Given the description of an element on the screen output the (x, y) to click on. 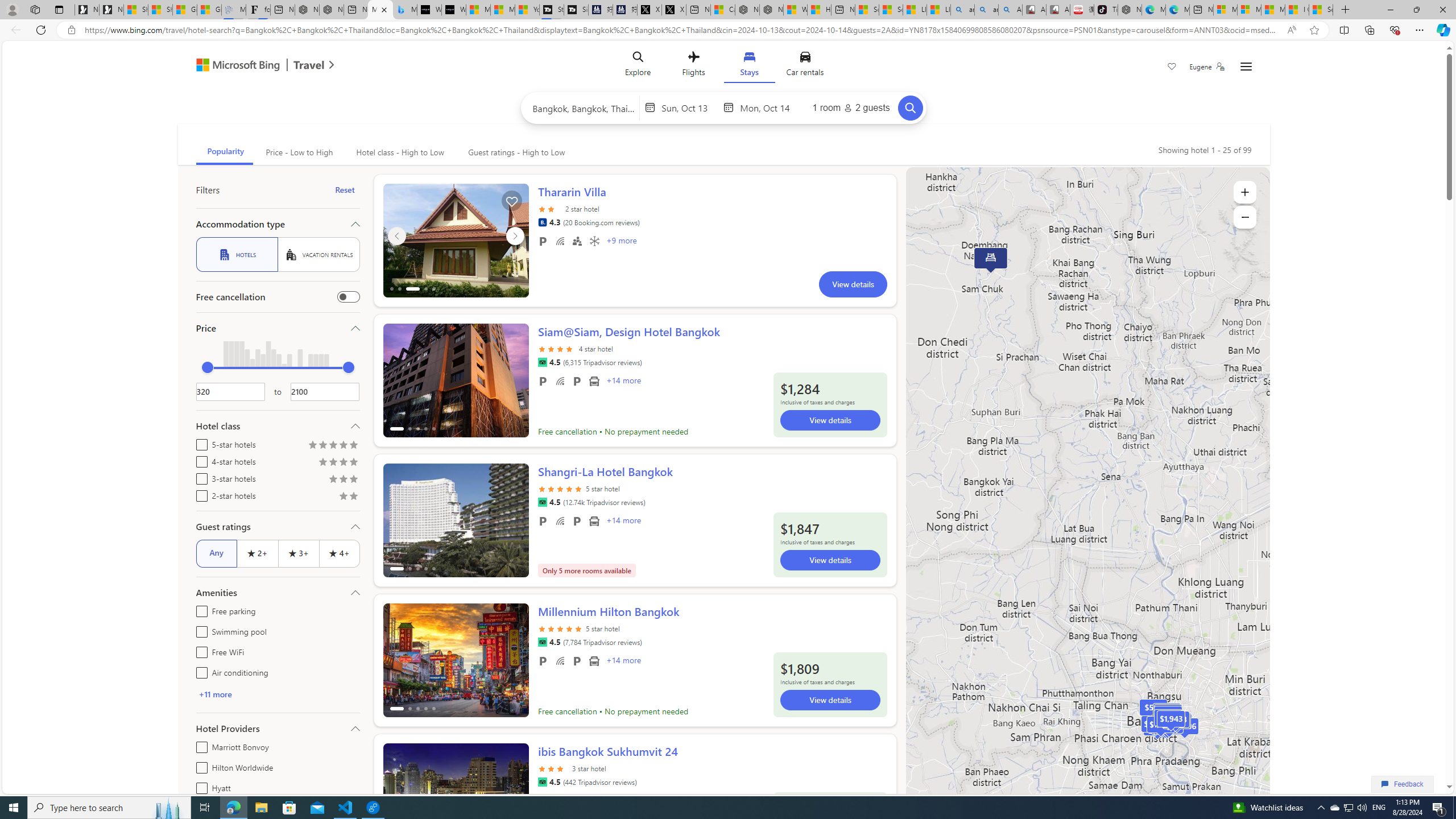
Save (1171, 67)
Free parking (199, 609)
Free WiFi (199, 650)
+11 more (277, 694)
Save (1171, 67)
ScrollRight (514, 795)
Class: msft-bing-logo msft-bing-logo-desktop (234, 64)
Microsoft Bing (232, 65)
star rating (553, 768)
